Given the description of an element on the screen output the (x, y) to click on. 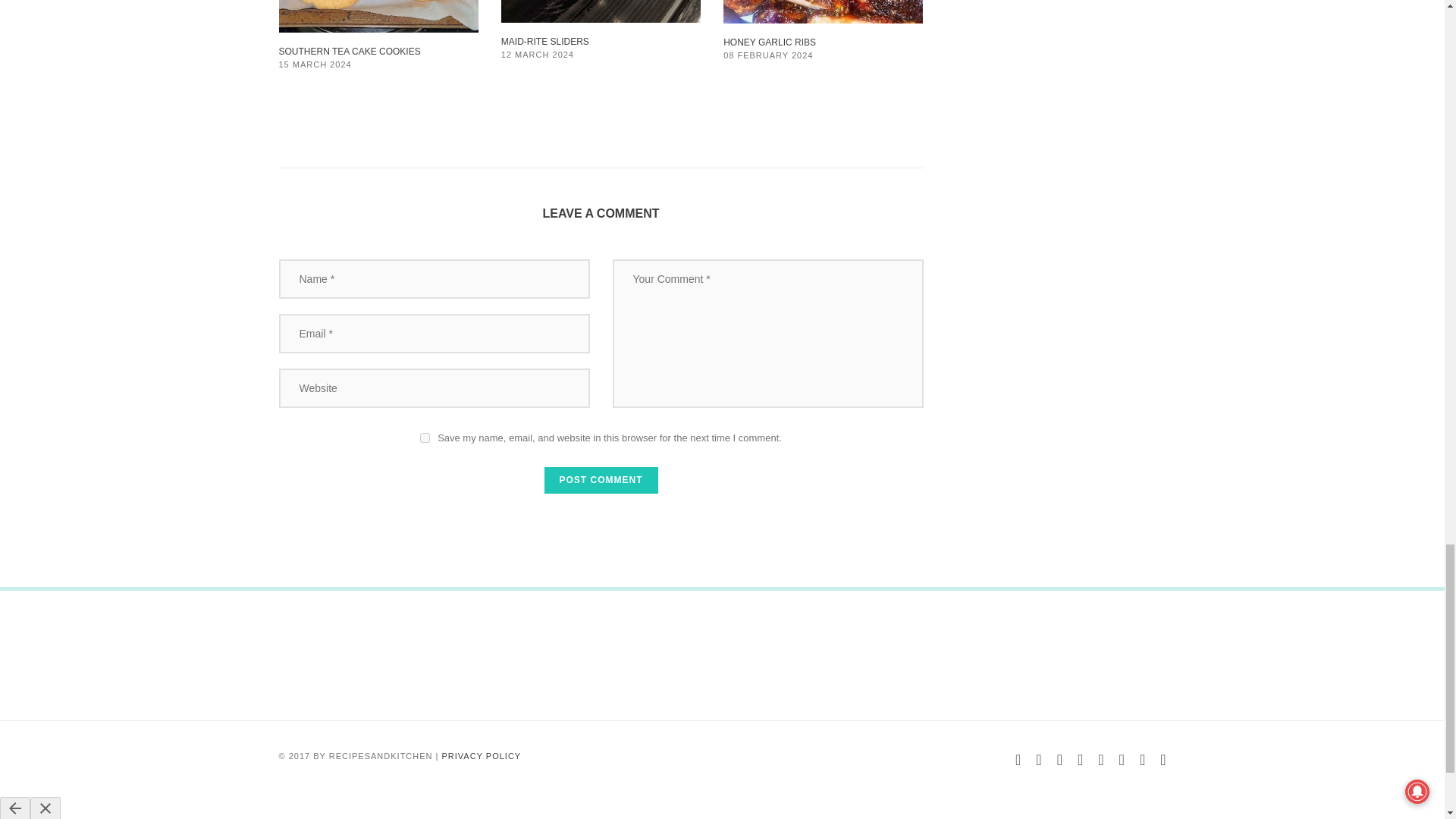
SOUTHERN TEA CAKE COOKIES (349, 50)
RECIPESANDKITCHEN (380, 755)
yes (424, 438)
Post Comment (601, 479)
HONEY GARLIC RIBS (769, 41)
Post Comment (601, 479)
PRIVACY POLICY (481, 755)
MAID-RITE SLIDERS (544, 41)
